Given the description of an element on the screen output the (x, y) to click on. 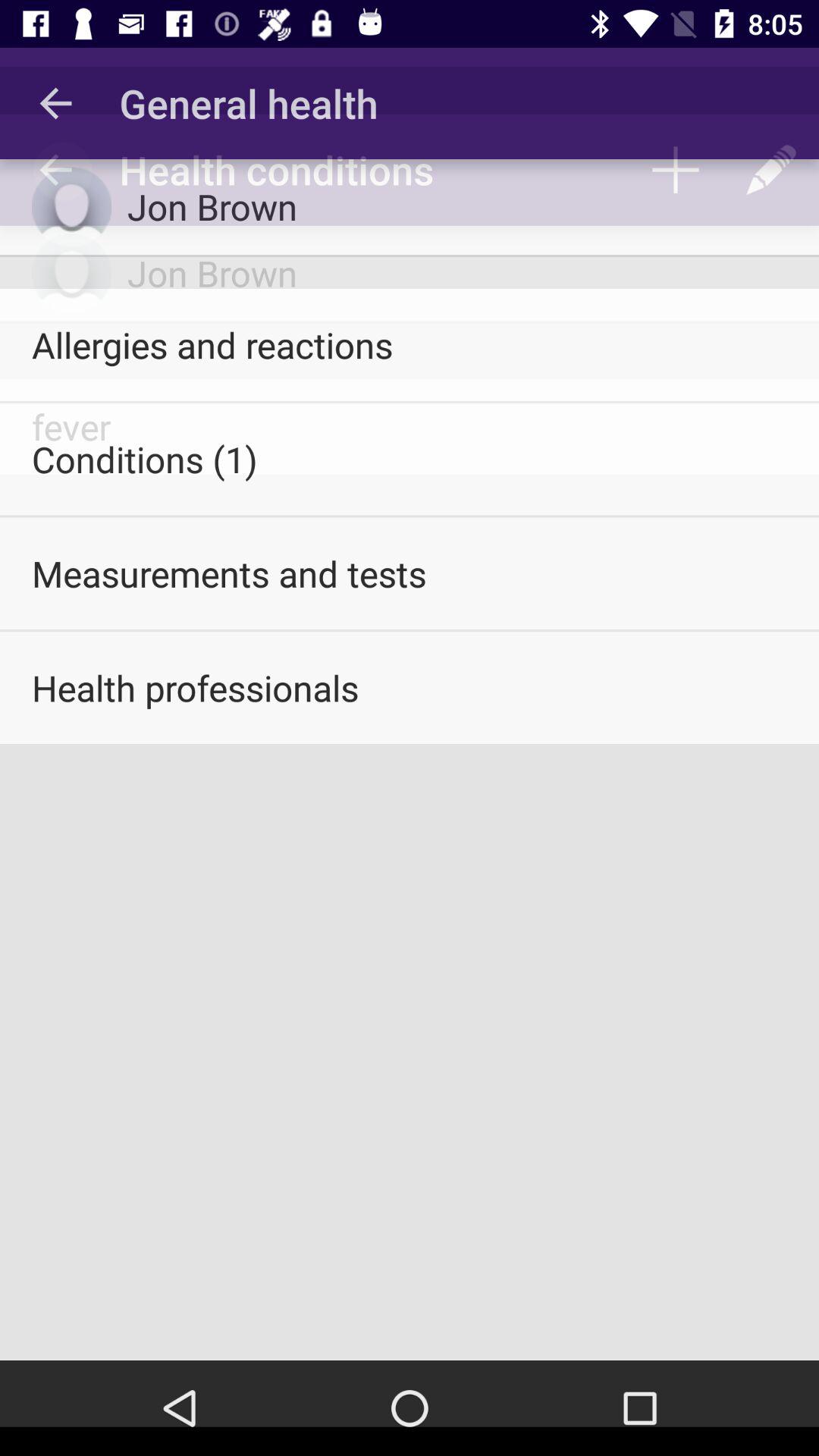
scroll until the health professionals  item (409, 687)
